Given the description of an element on the screen output the (x, y) to click on. 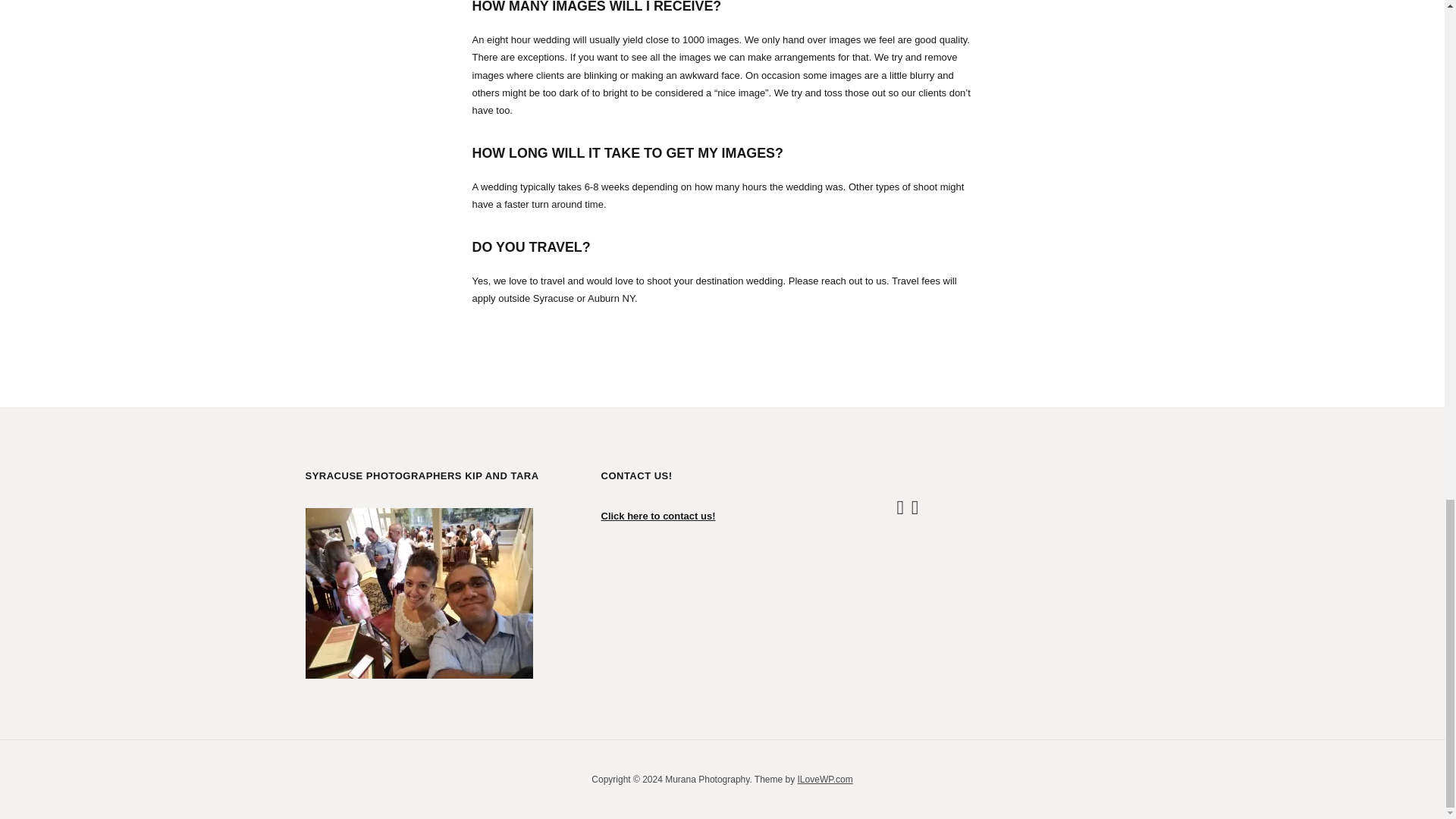
Click here to contact us! (656, 515)
ILoveWP.com (825, 778)
